Given the description of an element on the screen output the (x, y) to click on. 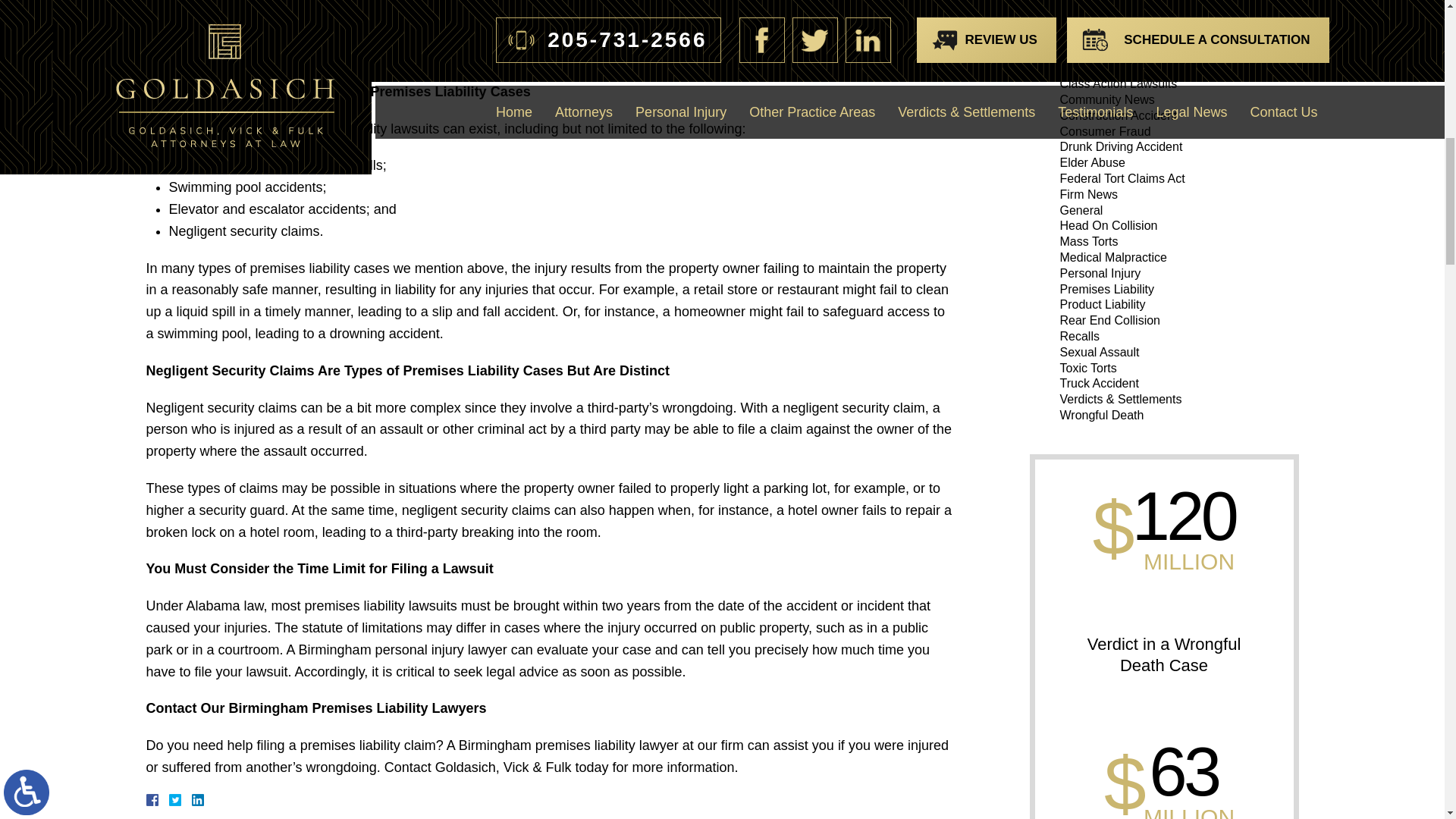
LinkedIn (191, 799)
Twitter (180, 799)
Facebook (169, 799)
